Given the description of an element on the screen output the (x, y) to click on. 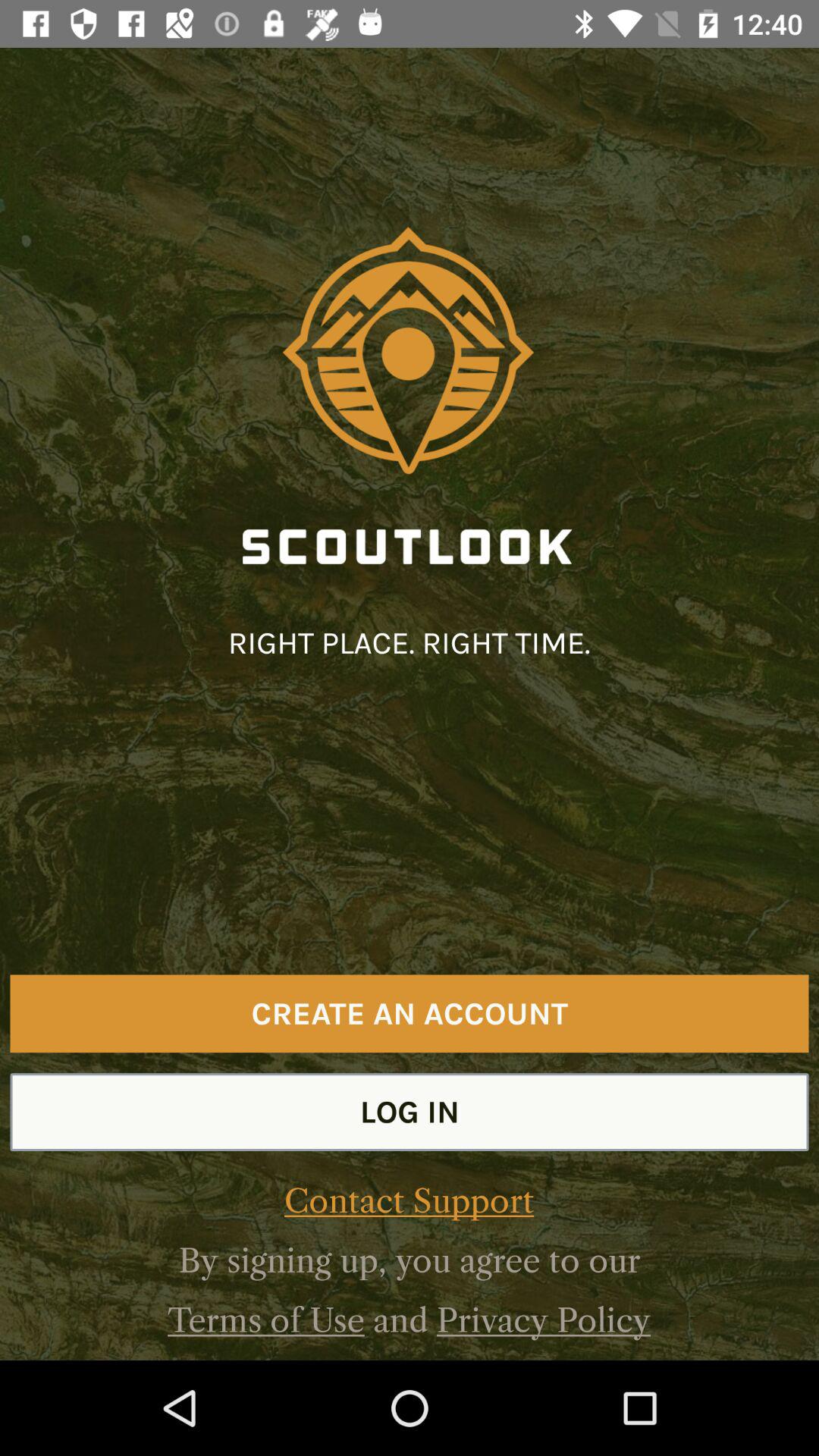
scroll until contact support icon (409, 1201)
